Given the description of an element on the screen output the (x, y) to click on. 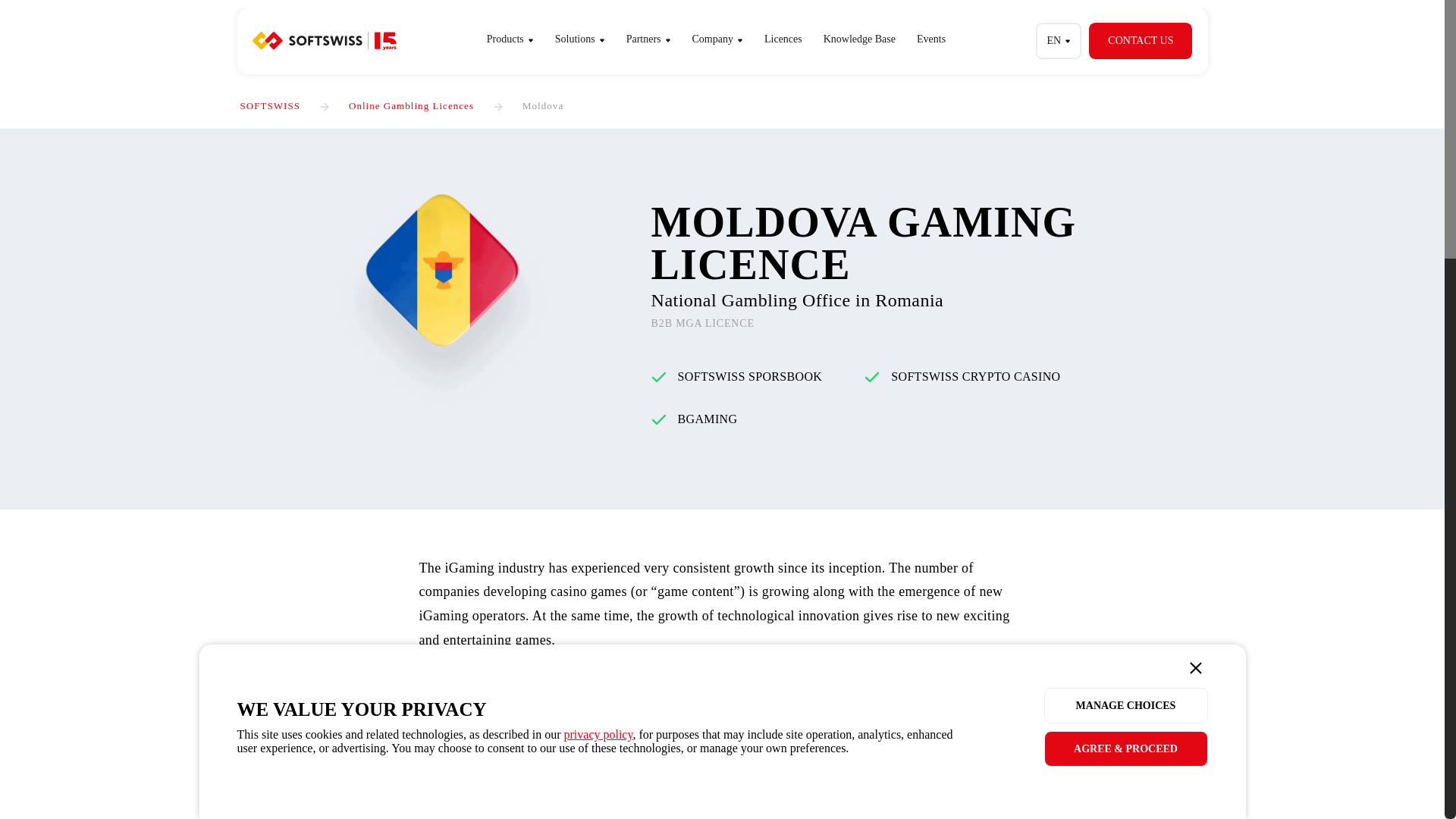
SOFTSWISS (269, 105)
Online Gambling Licences (411, 105)
Knowledge Base (858, 39)
EN (1058, 40)
Licences (783, 39)
Events (930, 39)
CONTACT US (1140, 40)
SOFTSWISS.com (323, 40)
